Given the description of an element on the screen output the (x, y) to click on. 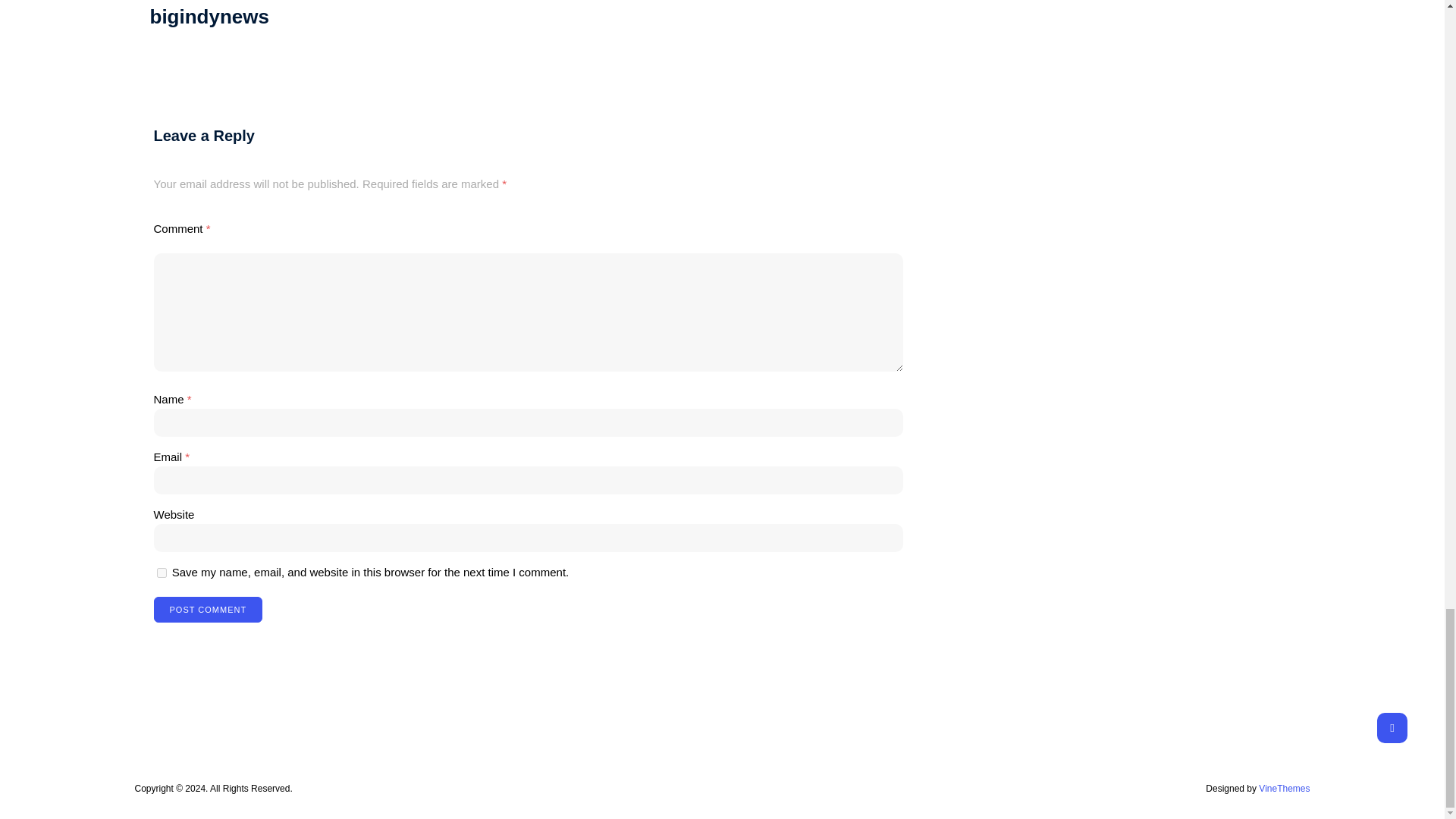
bigindynews (209, 15)
Post Comment (207, 609)
Post Comment (207, 609)
yes (160, 573)
VineThemes (1283, 787)
